Given the description of an element on the screen output the (x, y) to click on. 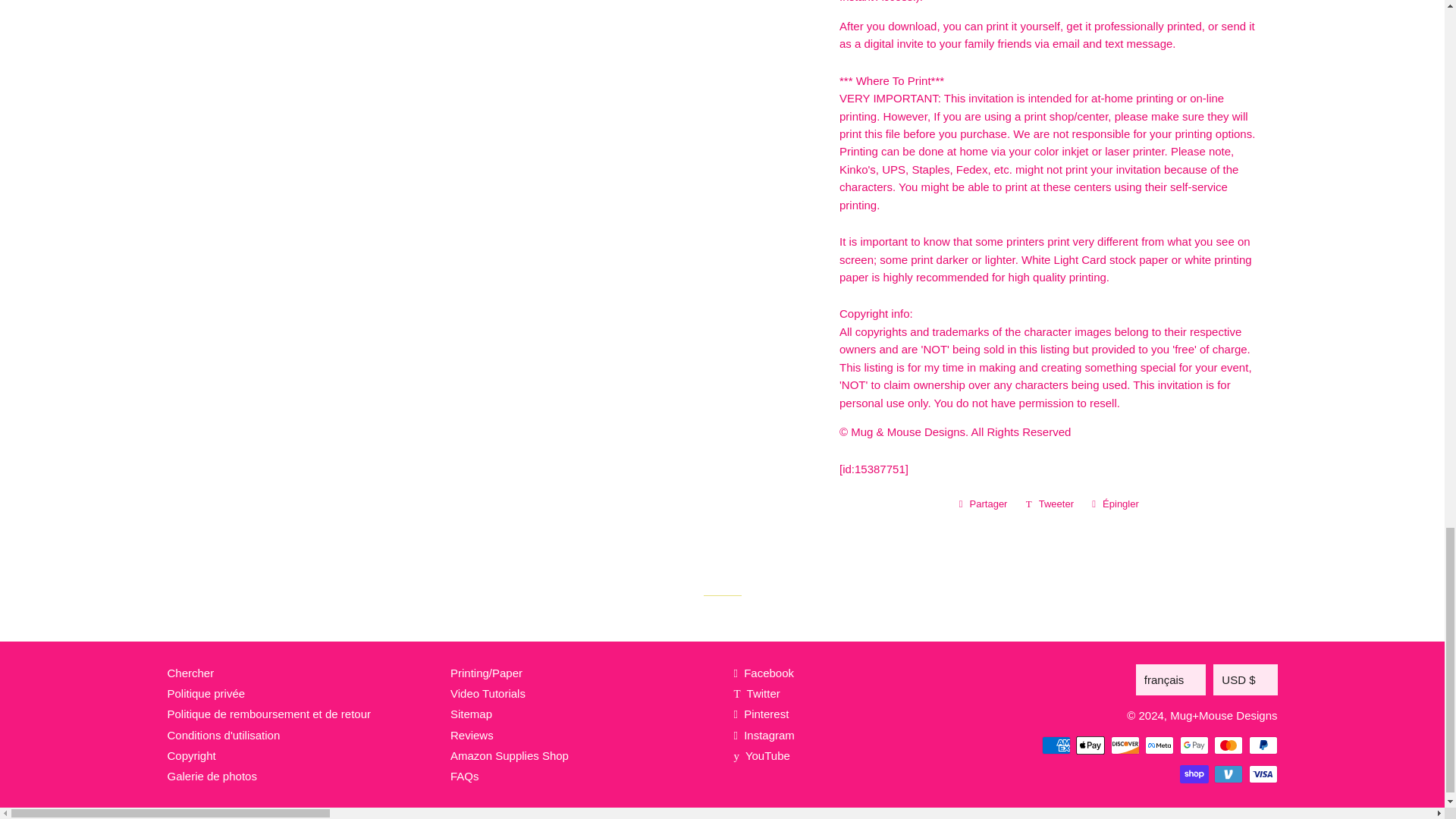
Mastercard (1228, 745)
Tweeter sur Twitter (1049, 504)
Visa (1261, 773)
Venmo (1228, 773)
Meta Pay (1158, 745)
Google Pay (1193, 745)
PayPal (1261, 745)
Apple Pay (1090, 745)
Shop Pay (1193, 773)
American Express (1056, 745)
Partager sur Facebook (983, 504)
Discover (1123, 745)
